Given the description of an element on the screen output the (x, y) to click on. 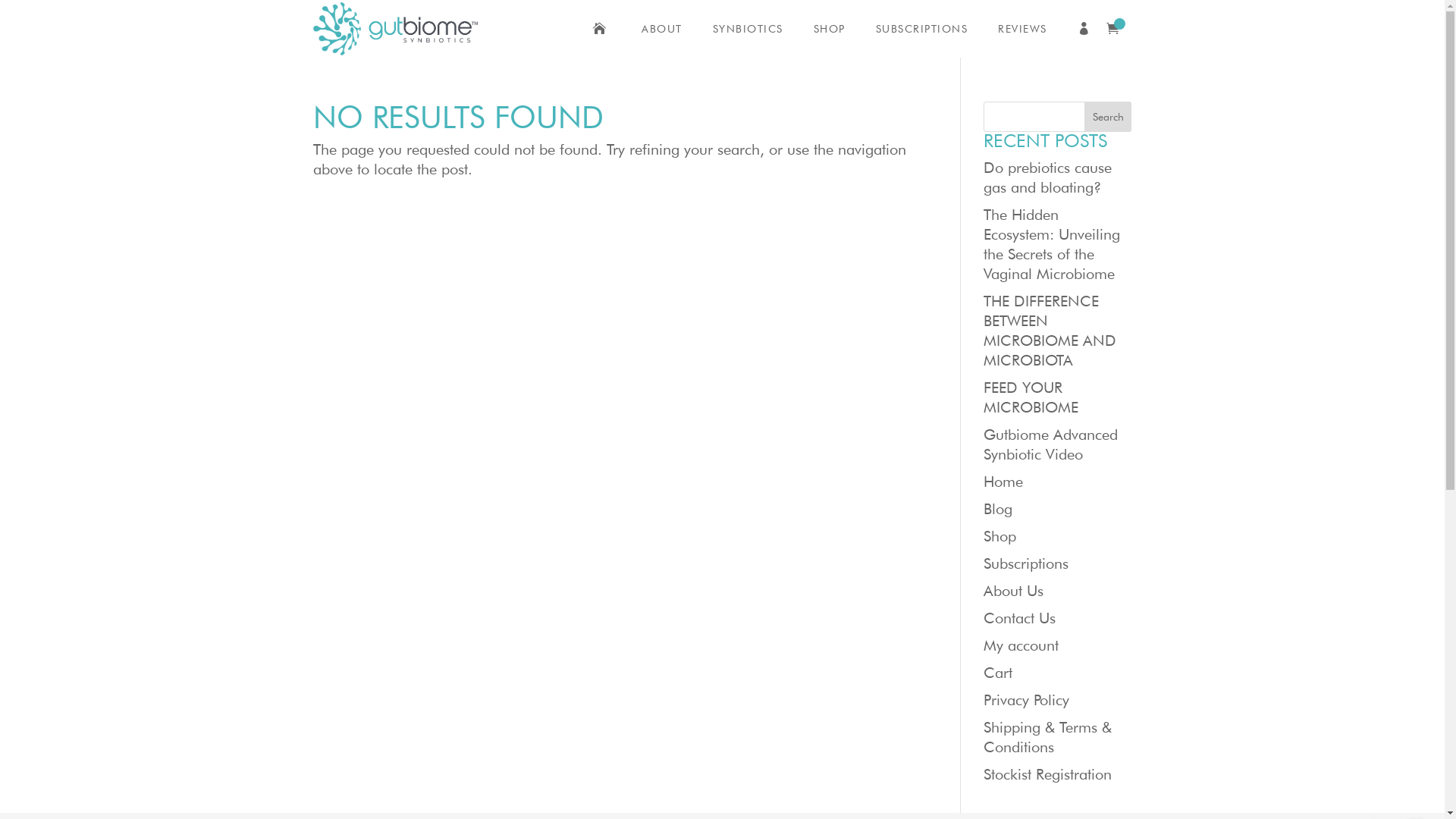
Contact Us Element type: text (1019, 617)
SHOP Element type: text (828, 28)
CART Element type: text (1115, 28)
REVIEWS Element type: text (1022, 28)
ABOUT Element type: text (661, 28)
SUBSCRIPTIONS Element type: text (921, 28)
Search Element type: text (1108, 116)
About Us Element type: text (1013, 590)
Stockist Registration Element type: text (1047, 774)
Do prebiotics cause gas and bloating? Element type: text (1047, 177)
My account Element type: text (1020, 645)
HOME Element type: text (602, 28)
Shipping & Terms & Conditions Element type: text (1047, 737)
Cart Element type: text (997, 672)
Gutbiome Advanced Synbiotic Video Element type: text (1050, 444)
Privacy Policy Element type: text (1026, 699)
FEED YOUR MICROBIOME Element type: text (1030, 397)
Subscriptions Element type: text (1025, 563)
Home Element type: text (1002, 481)
THE DIFFERENCE BETWEEN MICROBIOME AND MICROBIOTA Element type: text (1049, 330)
SYNBIOTICS Element type: text (747, 28)
Shop Element type: text (999, 536)
Blog Element type: text (997, 508)
